Given the description of an element on the screen output the (x, y) to click on. 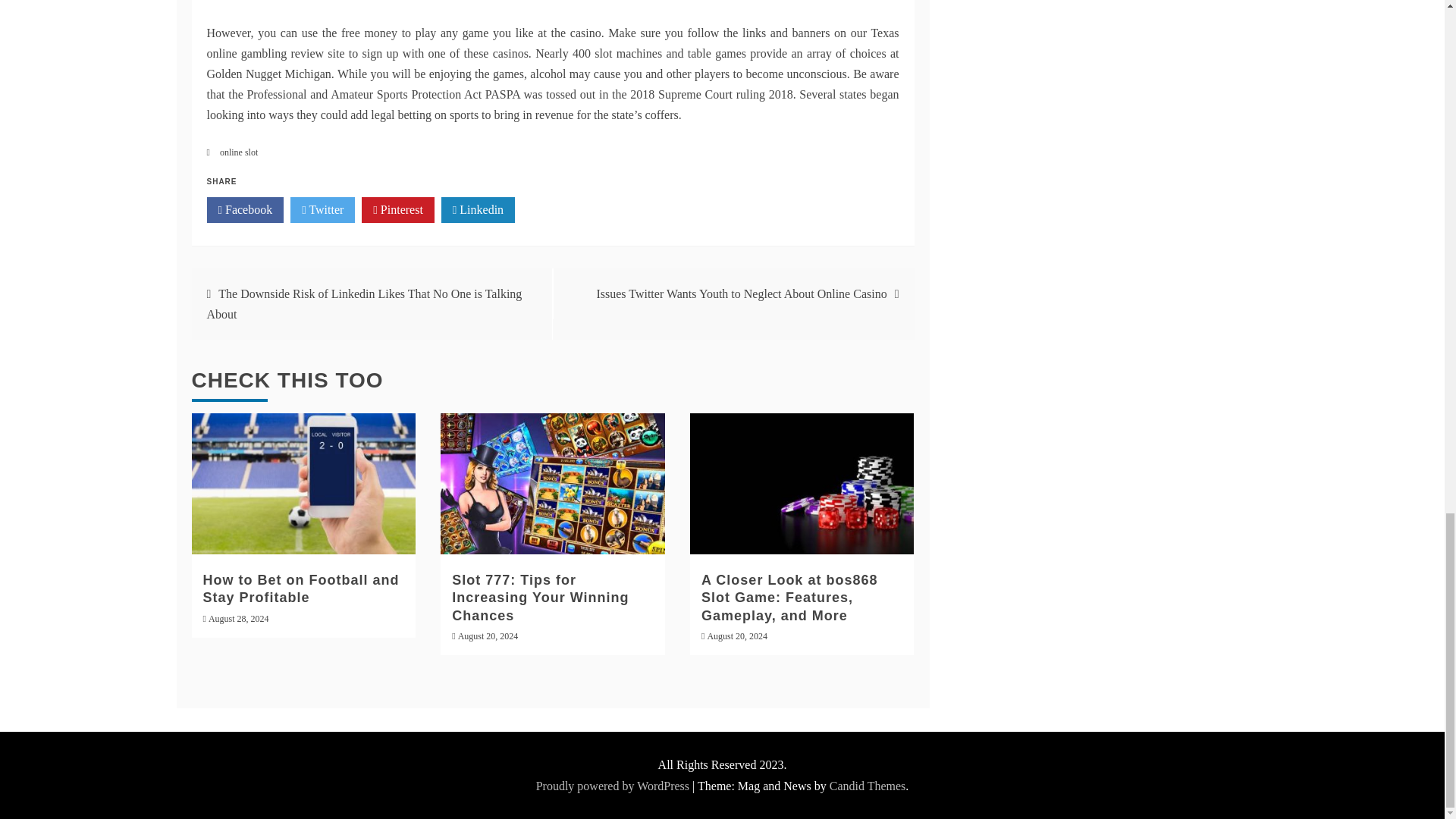
How to Bet on Football and Stay Profitable (300, 588)
August 20, 2024 (736, 635)
online slot (238, 152)
August 20, 2024 (488, 635)
Twitter (322, 209)
Issues Twitter Wants Youth to Neglect About Online Casino (740, 293)
Linkedin (478, 209)
August 28, 2024 (238, 618)
